Given the description of an element on the screen output the (x, y) to click on. 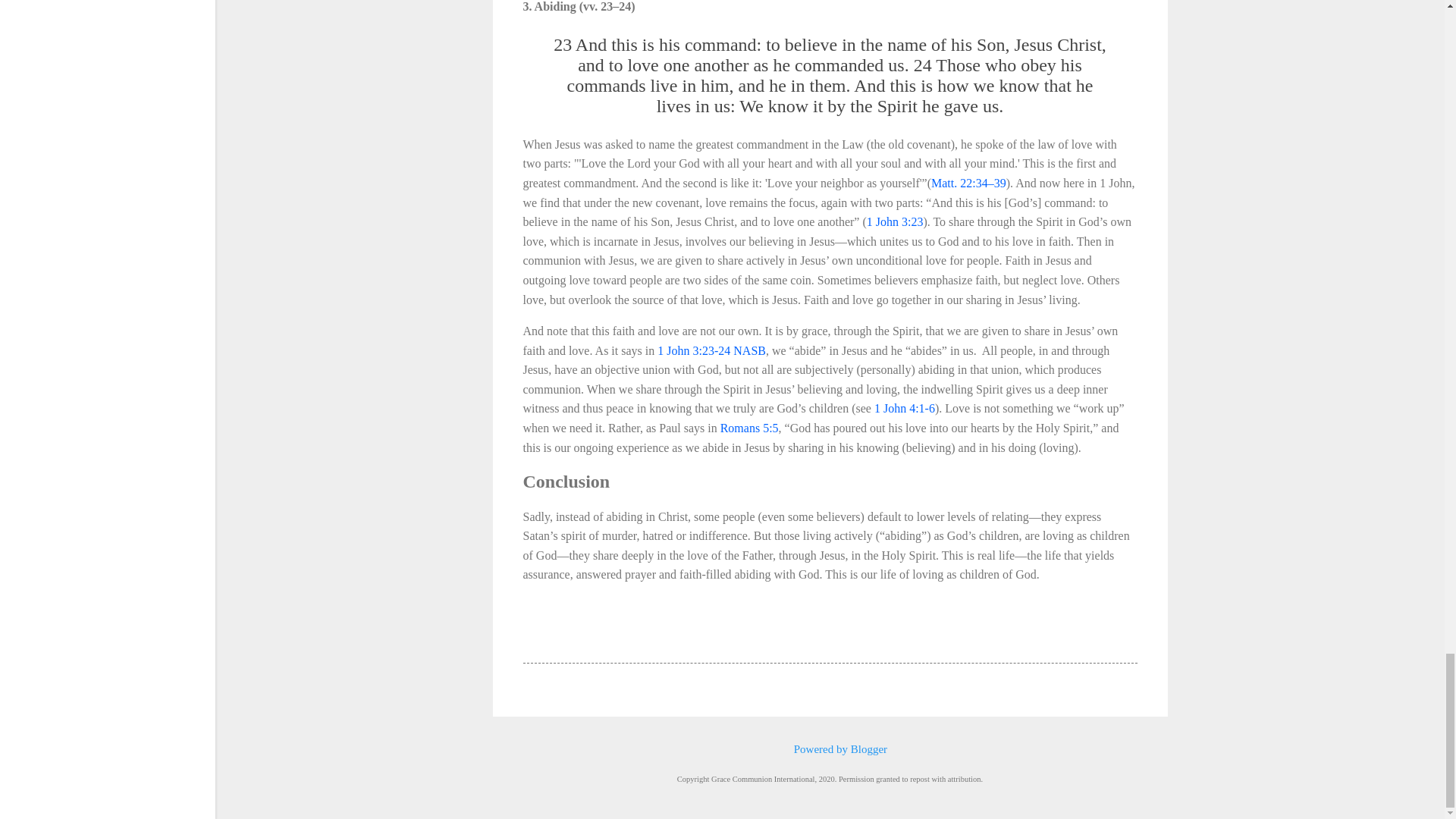
1 John 3:23 (894, 221)
Romans 5:5 (749, 427)
1 John 3:23-24 NASB (711, 350)
1 John 4:1-6 (904, 408)
